Given the description of an element on the screen output the (x, y) to click on. 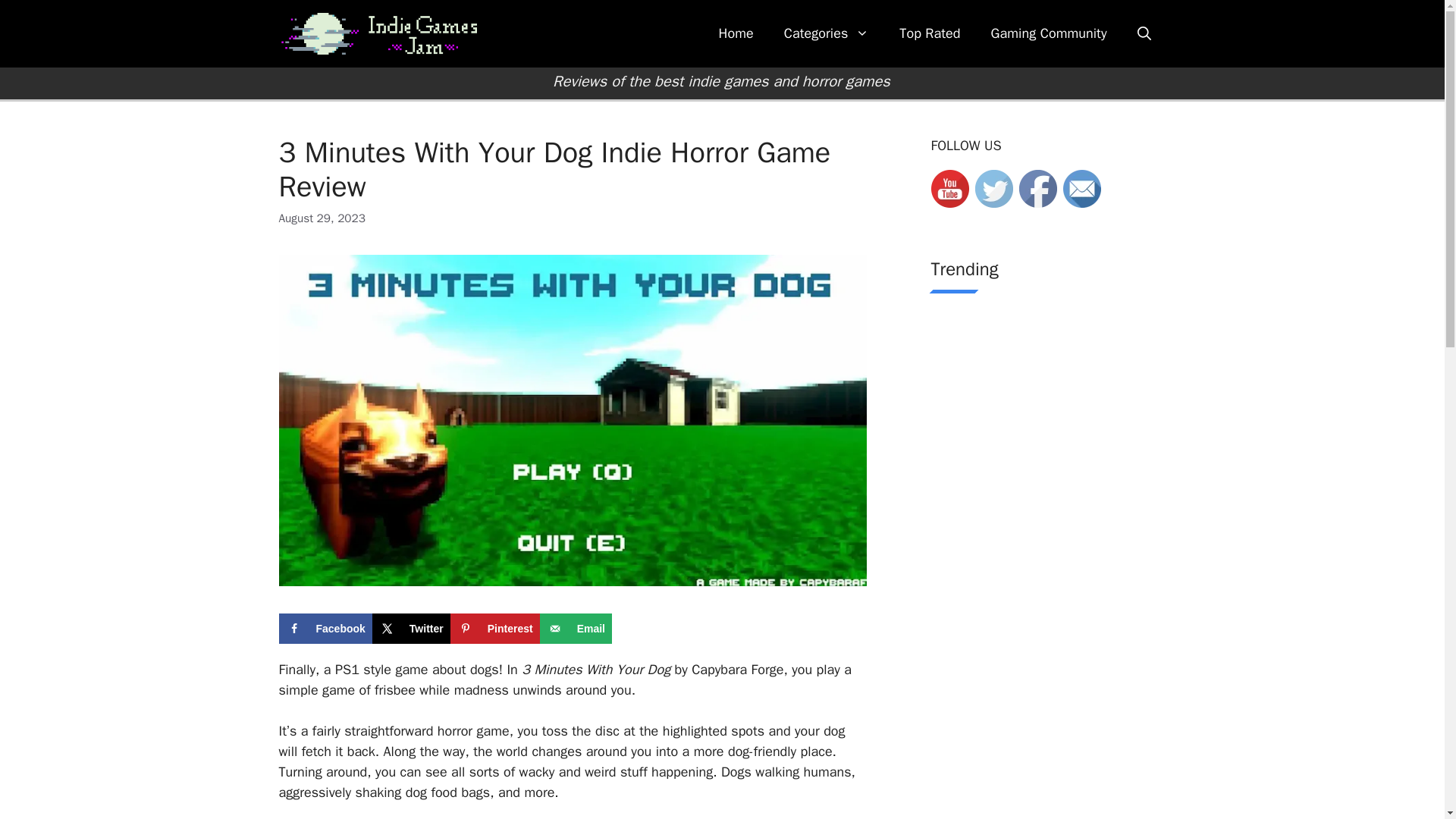
Save to Pinterest (494, 628)
Home (735, 33)
Share on X (410, 628)
Top Rated (929, 33)
Facebook (325, 628)
Send over email (575, 628)
Indie Games Jam Email Subscription (1081, 188)
Gaming Community (1048, 33)
Twitter (410, 628)
Categories (826, 33)
